Given the description of an element on the screen output the (x, y) to click on. 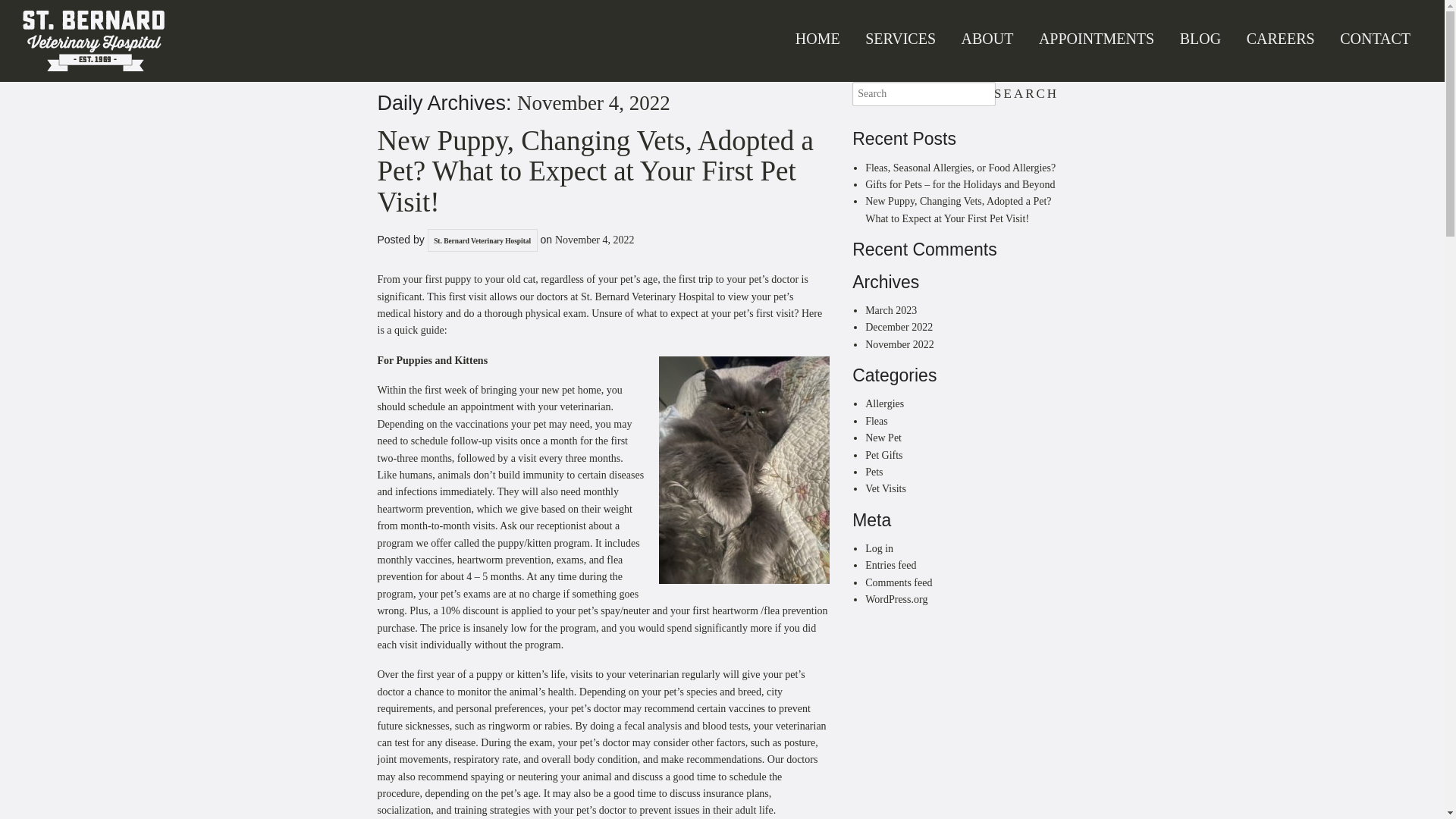
St. Bernard Veterinary Hospital (482, 240)
ABOUT (987, 39)
March 2023 (890, 310)
2:07 pm (594, 239)
Fleas, Seasonal Allergies, or Food Allergies? (959, 167)
Search (1026, 93)
St. Bernard Veterinary Hospital (93, 37)
Pets (873, 471)
CAREERS (1280, 39)
